Given the description of an element on the screen output the (x, y) to click on. 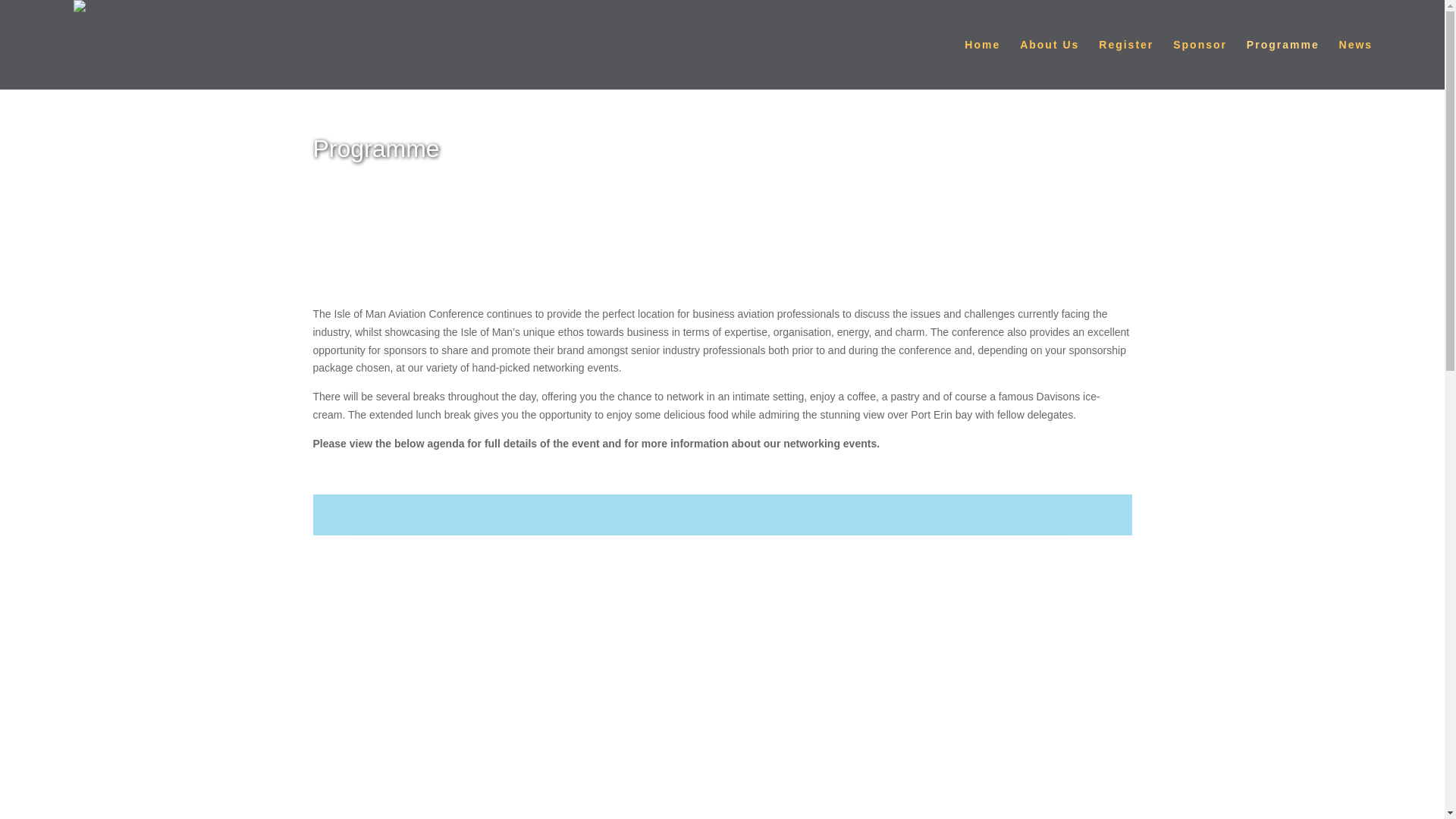
Register (1126, 64)
Programme (1282, 64)
About Us (1049, 64)
Sponsor (1200, 64)
